Given the description of an element on the screen output the (x, y) to click on. 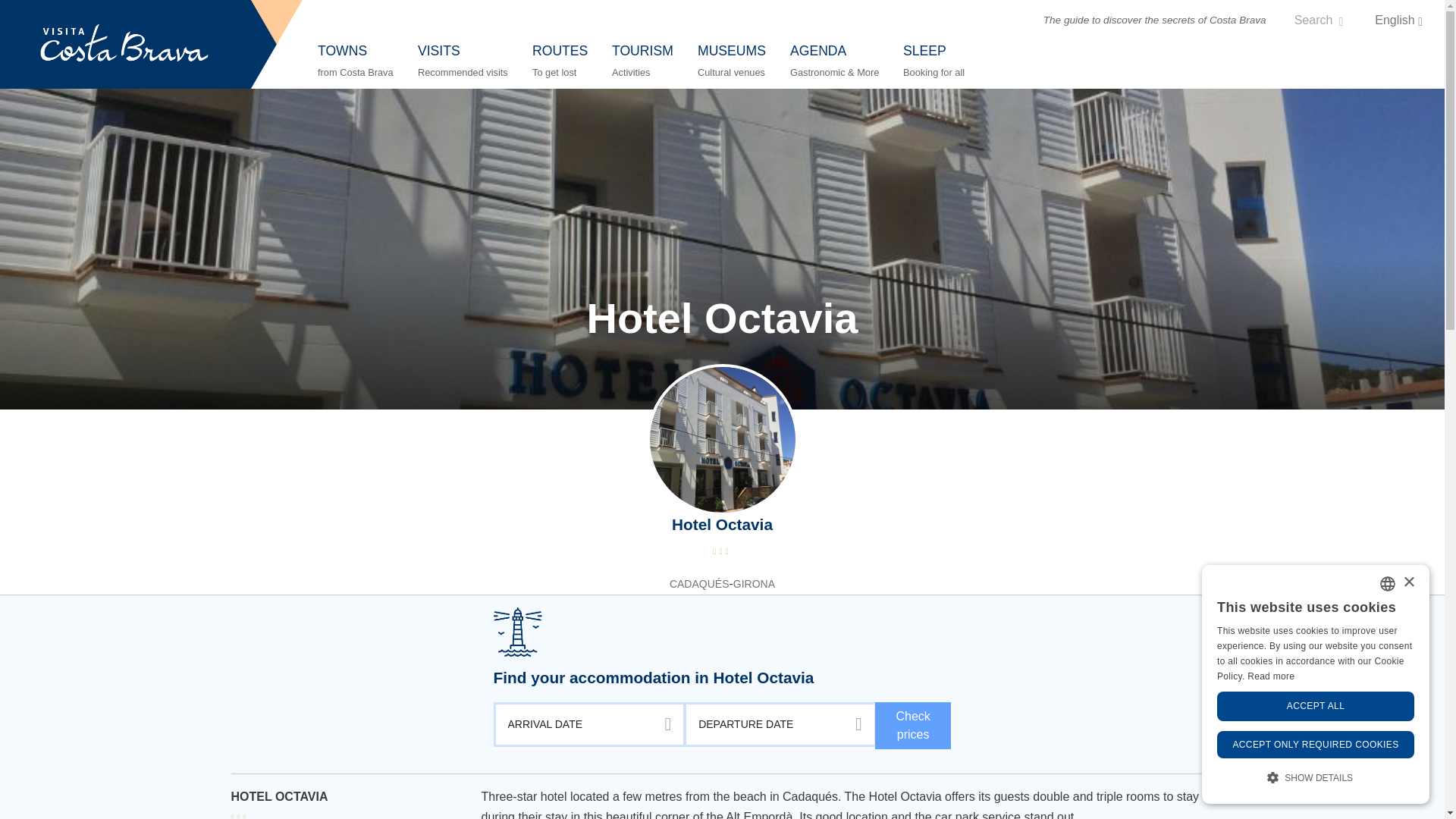
VISITSRecommended visits (462, 61)
English (1398, 20)
TOURISM Activities (642, 61)
MUSEUMSCultural venues (731, 61)
Visita Costa Brava (124, 44)
Search (1319, 20)
TOWNSfrom Costa Brava (355, 61)
ROUTESTo get lost (559, 61)
Check prices (913, 725)
SLEEPBooking for all (933, 61)
